Given the description of an element on the screen output the (x, y) to click on. 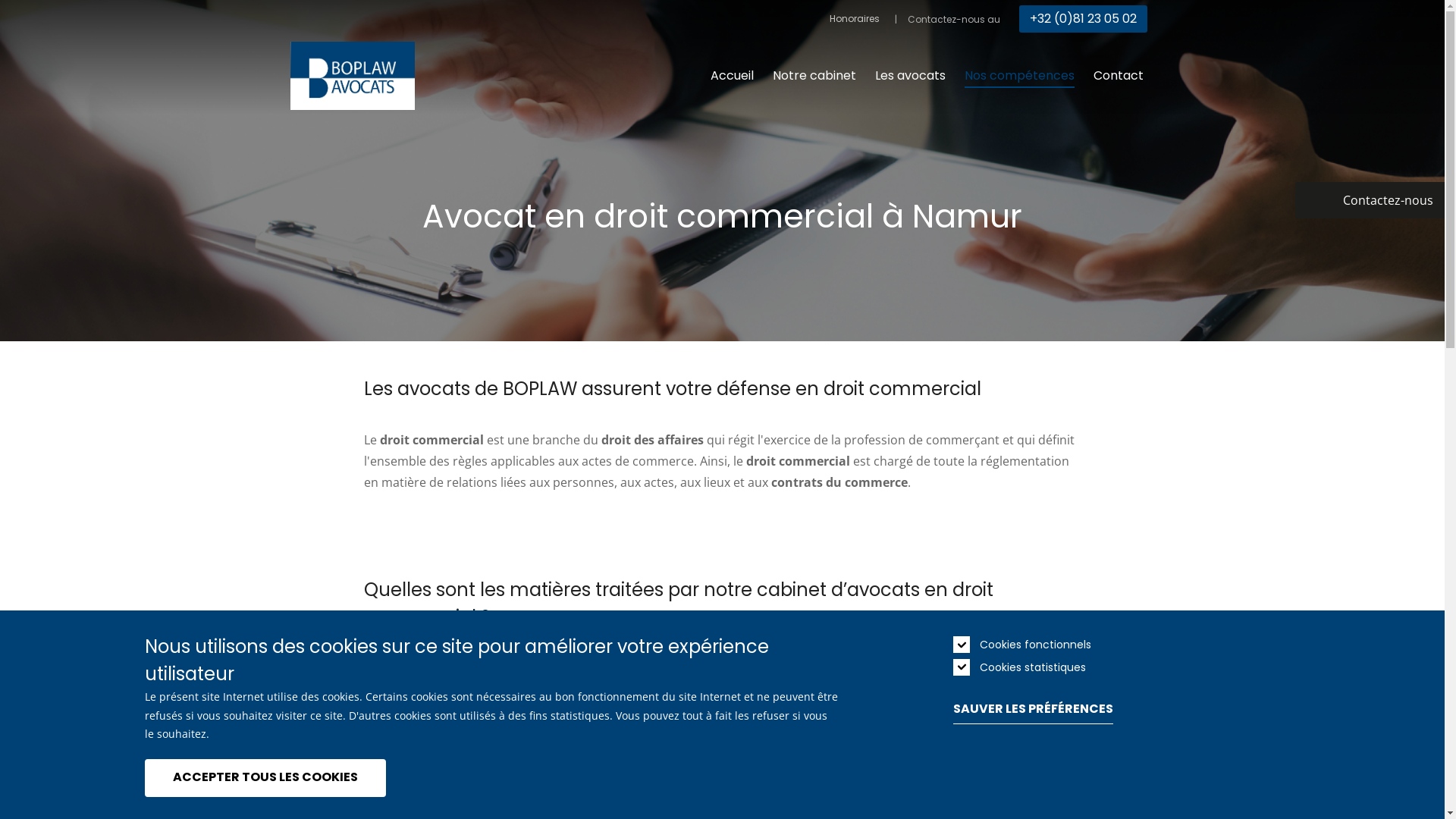
RETIRER LE CONSENTEMENT Element type: text (413, 769)
Contactez-nous Element type: text (1369, 200)
Contact Element type: text (1118, 75)
ACCEPTER TOUS LES COOKIES Element type: text (264, 777)
Notre cabinet Element type: text (813, 75)
Accueil Element type: text (731, 75)
Honoraires Element type: text (854, 18)
+32 (0)81 23 05 02 Element type: text (1083, 18)
